Given the description of an element on the screen output the (x, y) to click on. 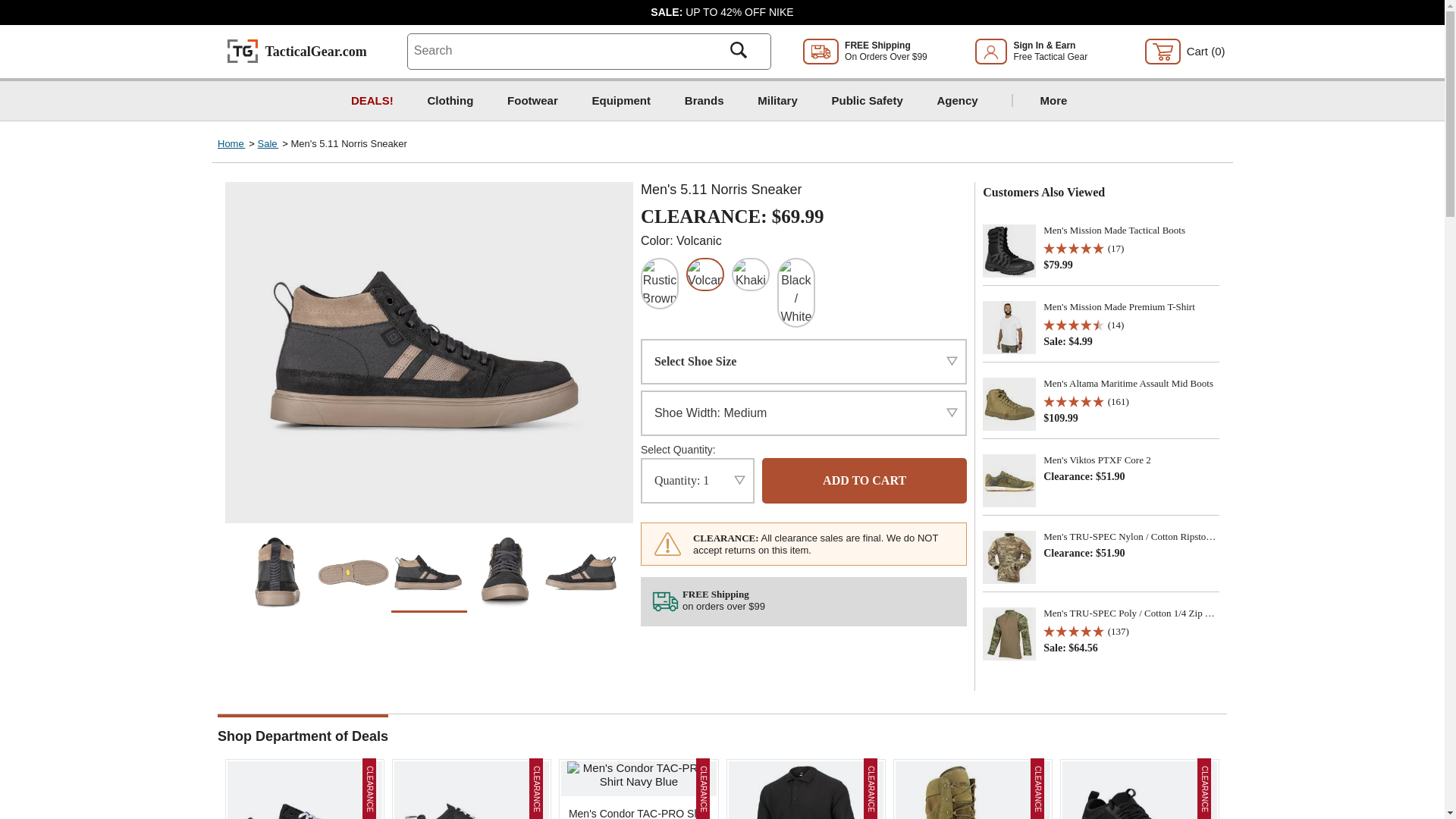
Khaki (751, 274)
Volcanic (704, 274)
Add to Cart (863, 480)
